Given the description of an element on the screen output the (x, y) to click on. 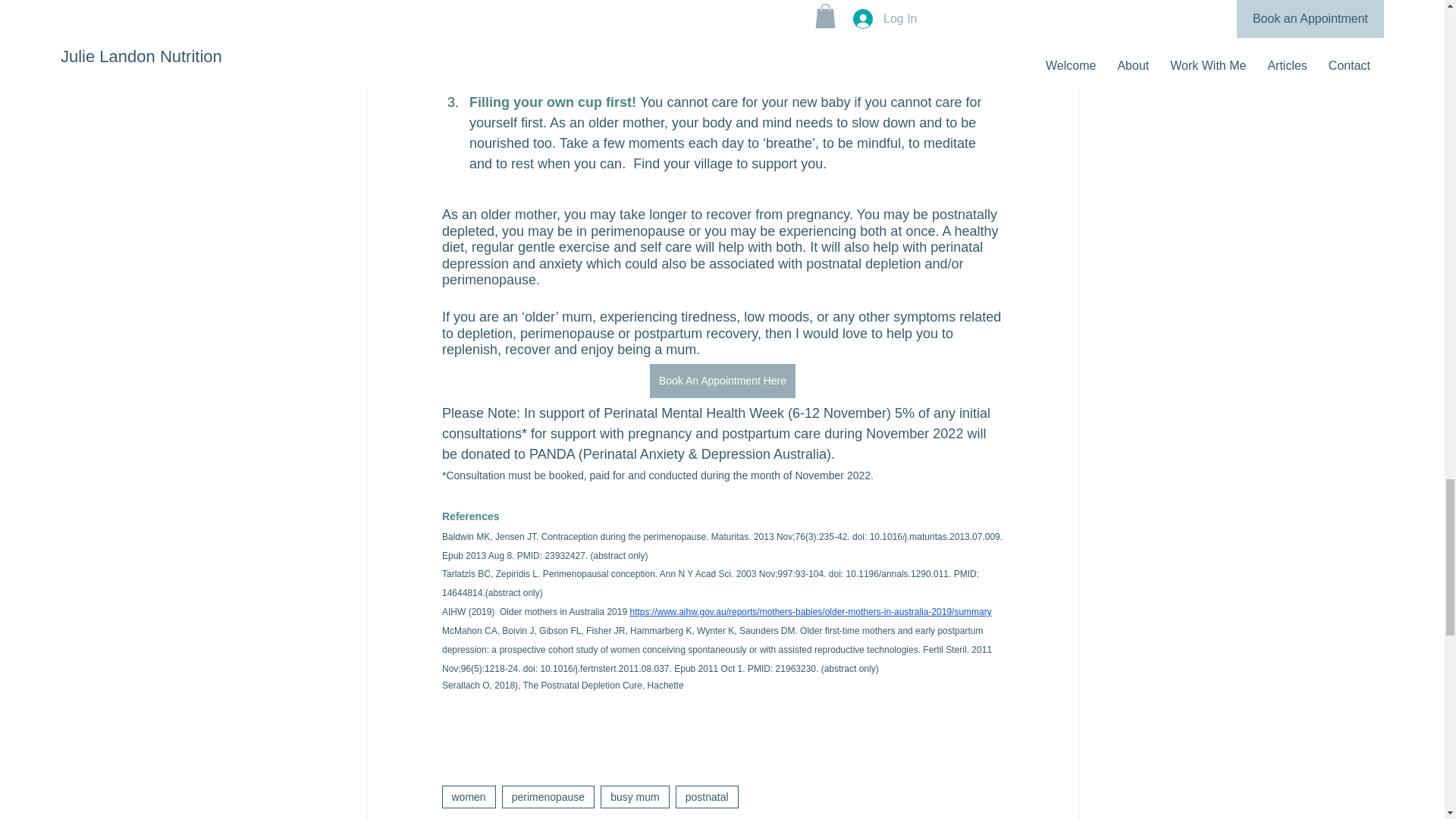
busy mum (634, 796)
postnatal (706, 796)
Book An Appointment Here (721, 380)
women (468, 796)
perimenopause (548, 796)
